Given the description of an element on the screen output the (x, y) to click on. 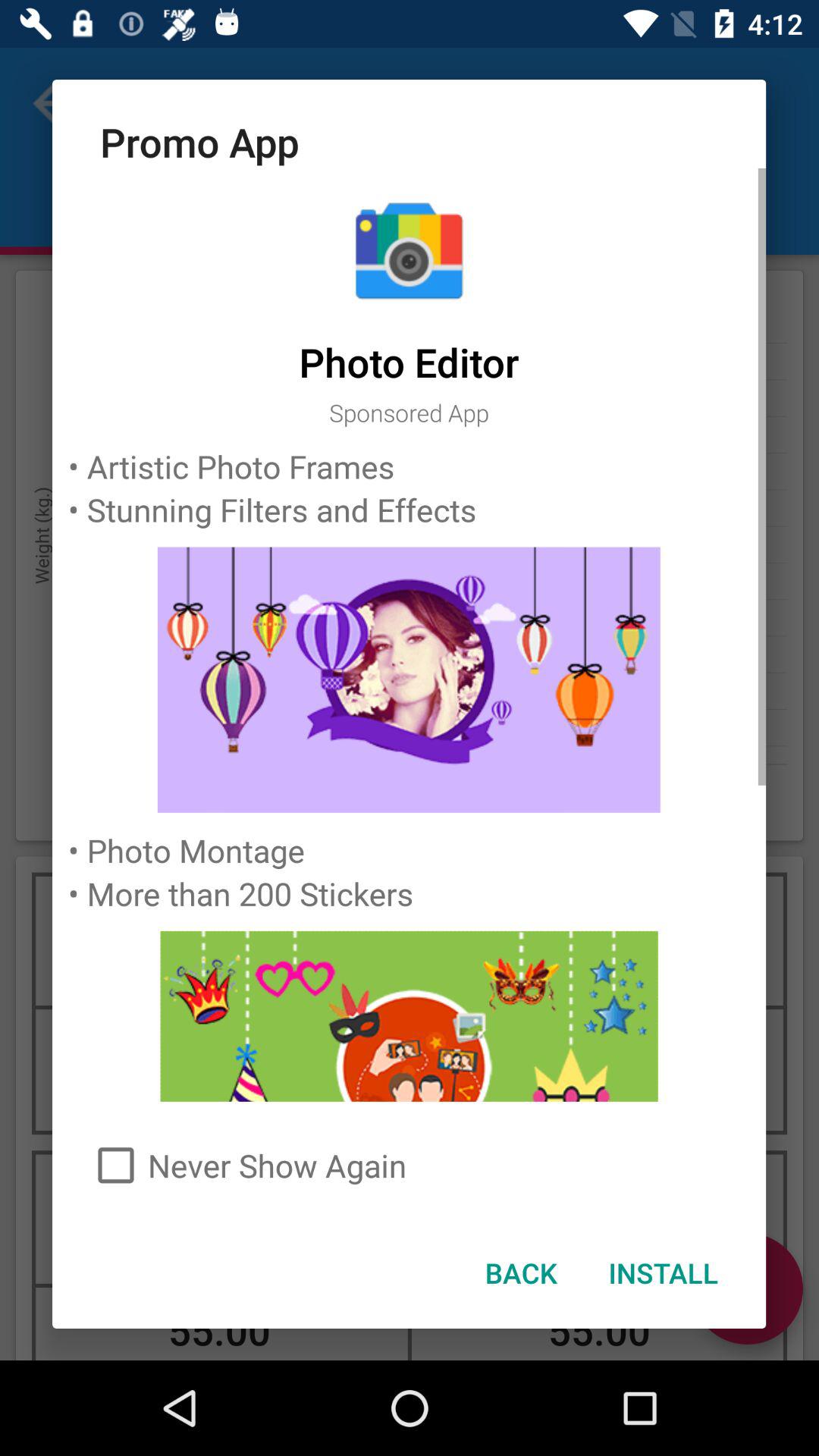
turn off the icon next to the install item (520, 1272)
